Given the description of an element on the screen output the (x, y) to click on. 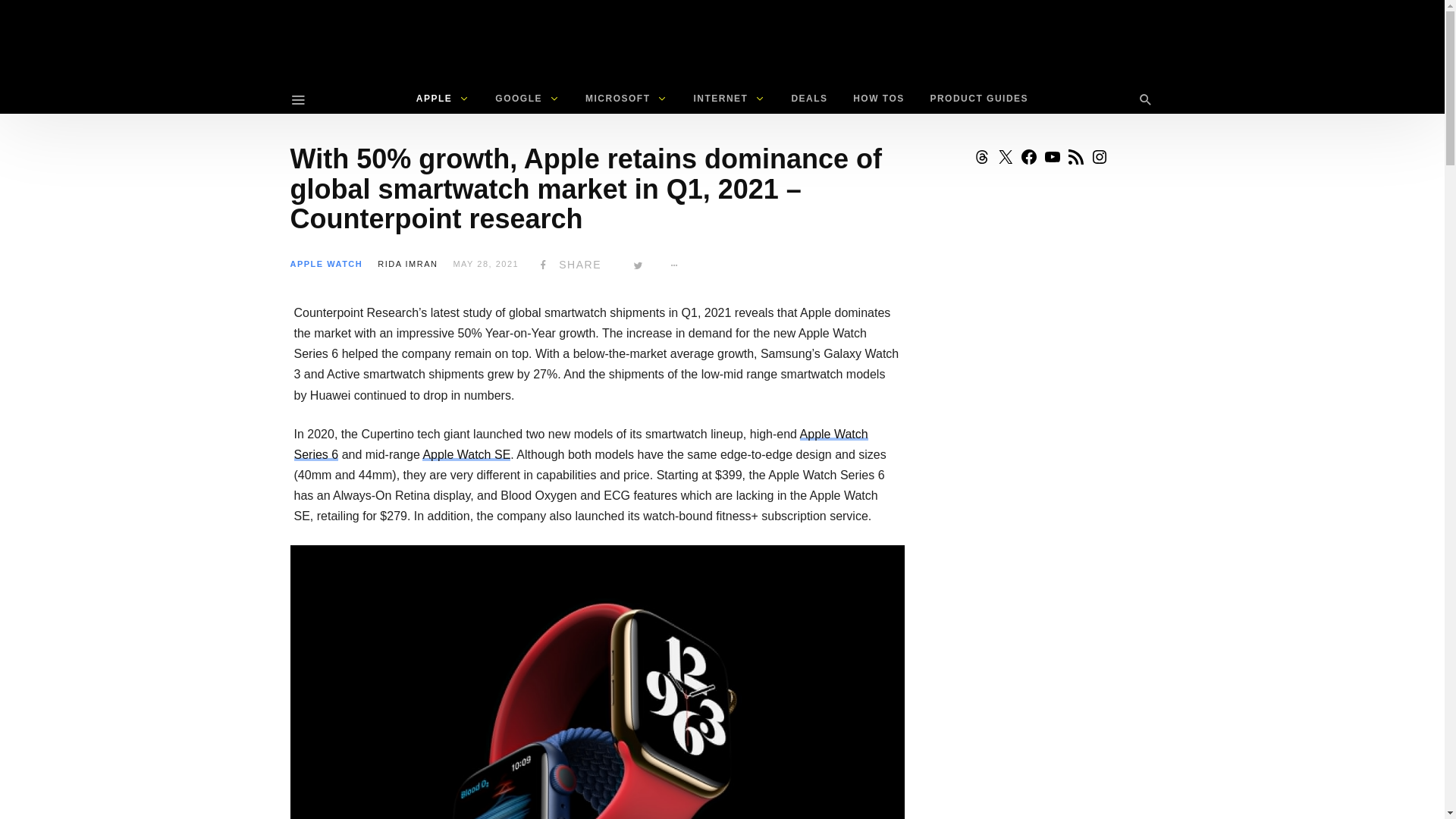
More (674, 264)
GOOGLE (526, 98)
MICROSOFT (626, 98)
INTERNET (728, 98)
View all posts in Apple Watch (325, 263)
PRODUCT GUIDES (978, 98)
RIDA IMRAN (407, 263)
SHARE (567, 264)
Posts by Rida Imran (407, 263)
Share on Facebook (567, 264)
